Given the description of an element on the screen output the (x, y) to click on. 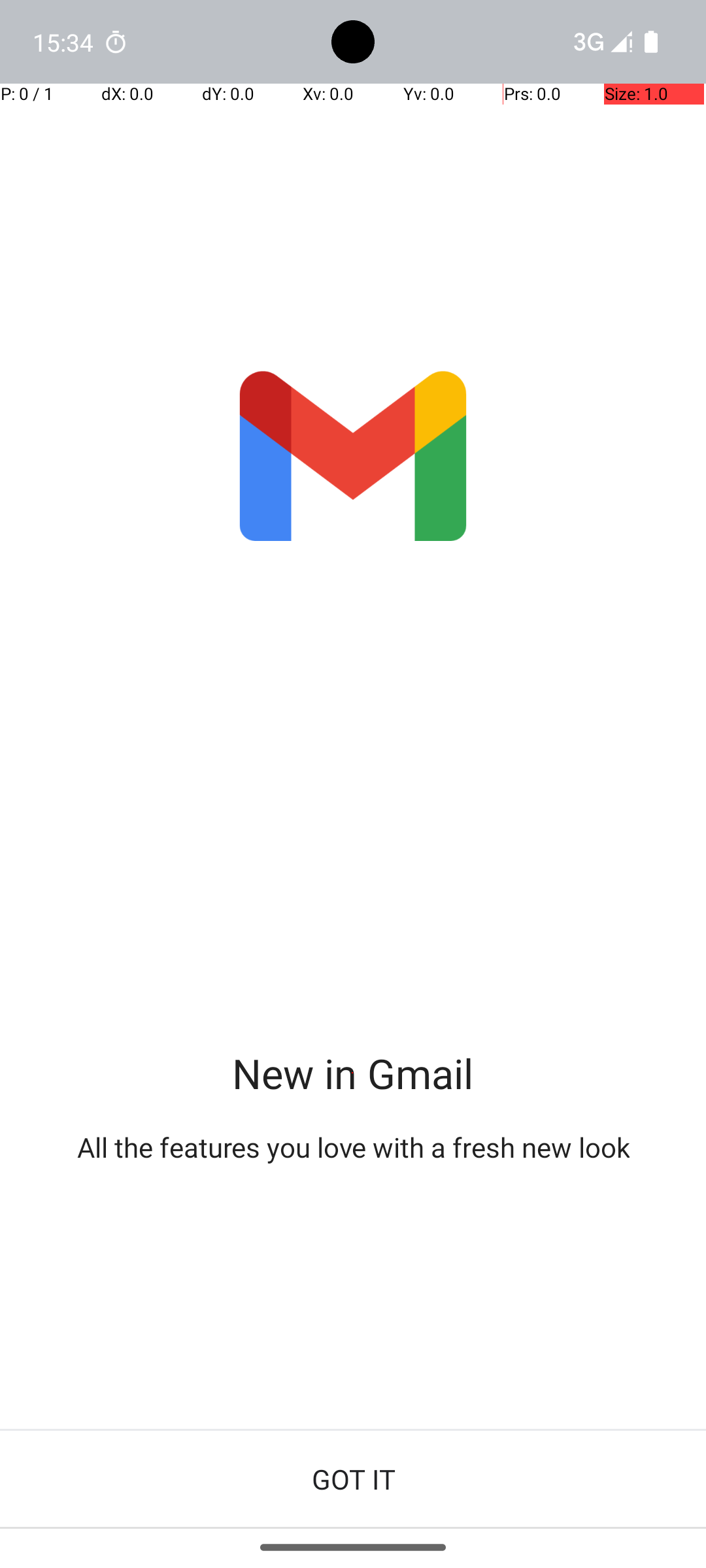
GOT IT Element type: android.widget.TextView (353, 1478)
New in Gmail Element type: android.widget.TextView (352, 1072)
All the features you love with a fresh new look Element type: android.widget.TextView (352, 1146)
